Given the description of an element on the screen output the (x, y) to click on. 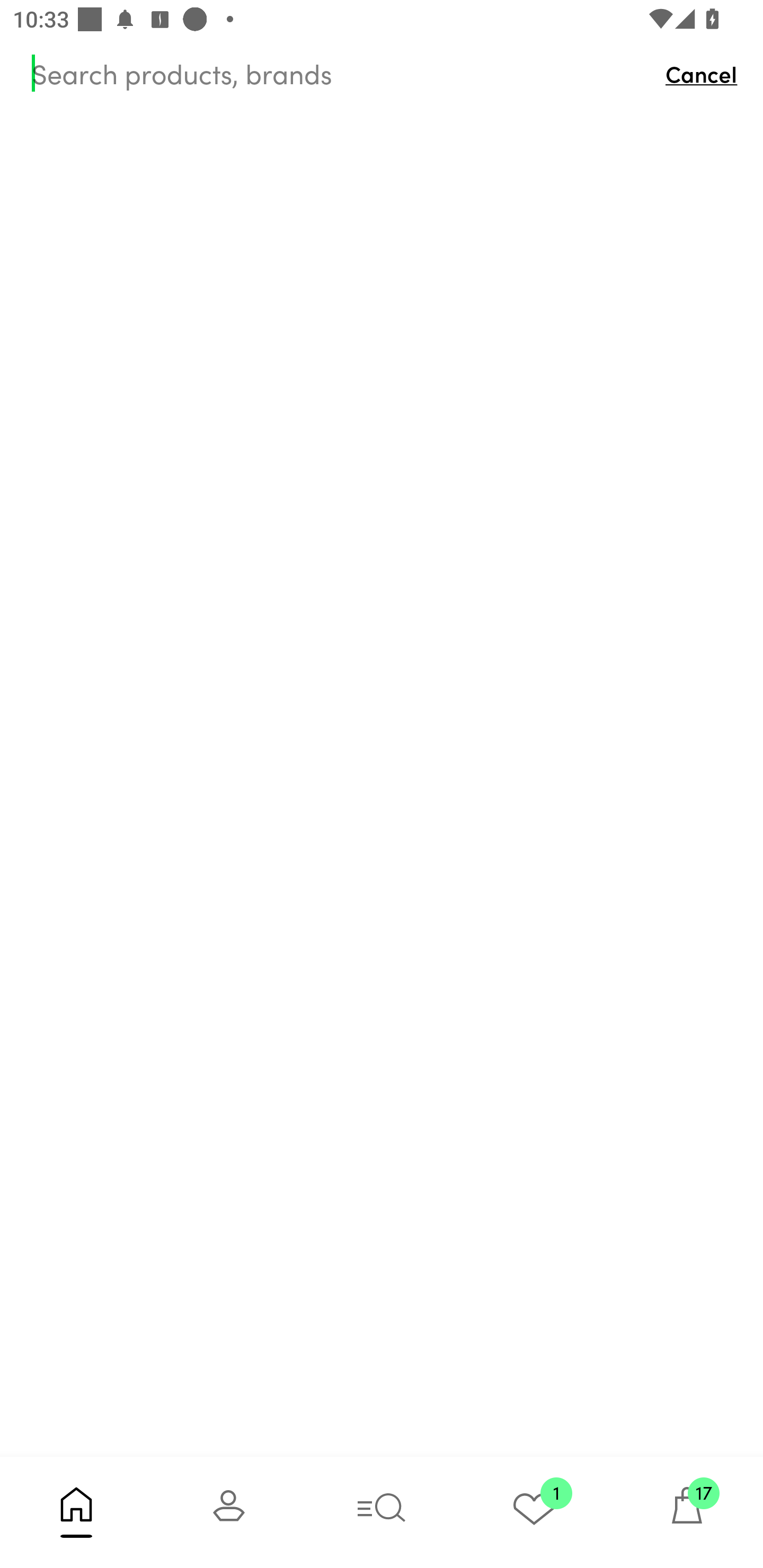
Cancel (706, 72)
Search products, brands (340, 72)
1 (533, 1512)
17 (686, 1512)
